Given the description of an element on the screen output the (x, y) to click on. 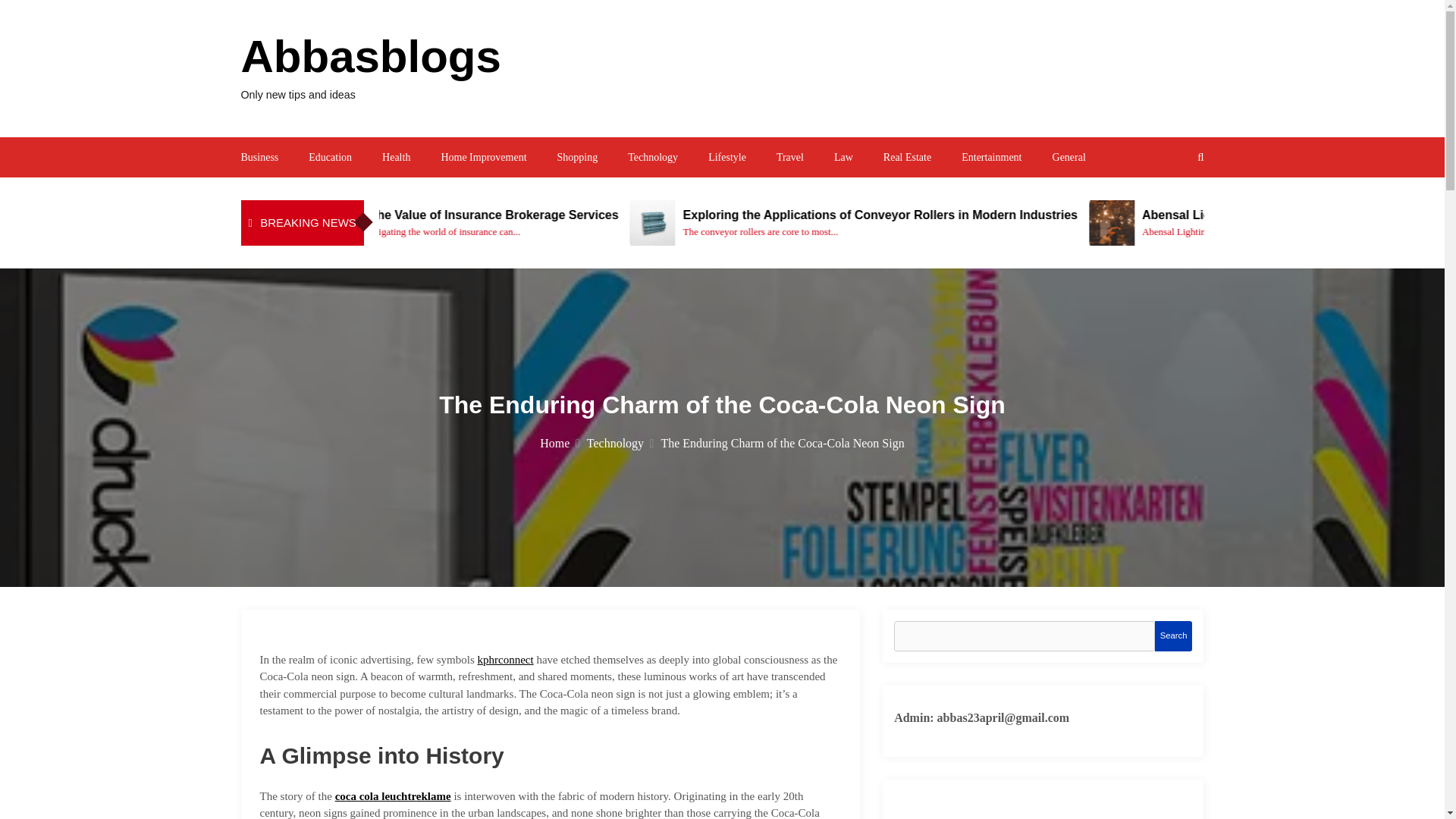
kphrconnect (505, 659)
Education (330, 156)
Health (395, 156)
Law (843, 156)
Shopping (577, 156)
Entertainment (991, 156)
Technology (652, 156)
Real Estate (907, 156)
Home (559, 442)
